Given the description of an element on the screen output the (x, y) to click on. 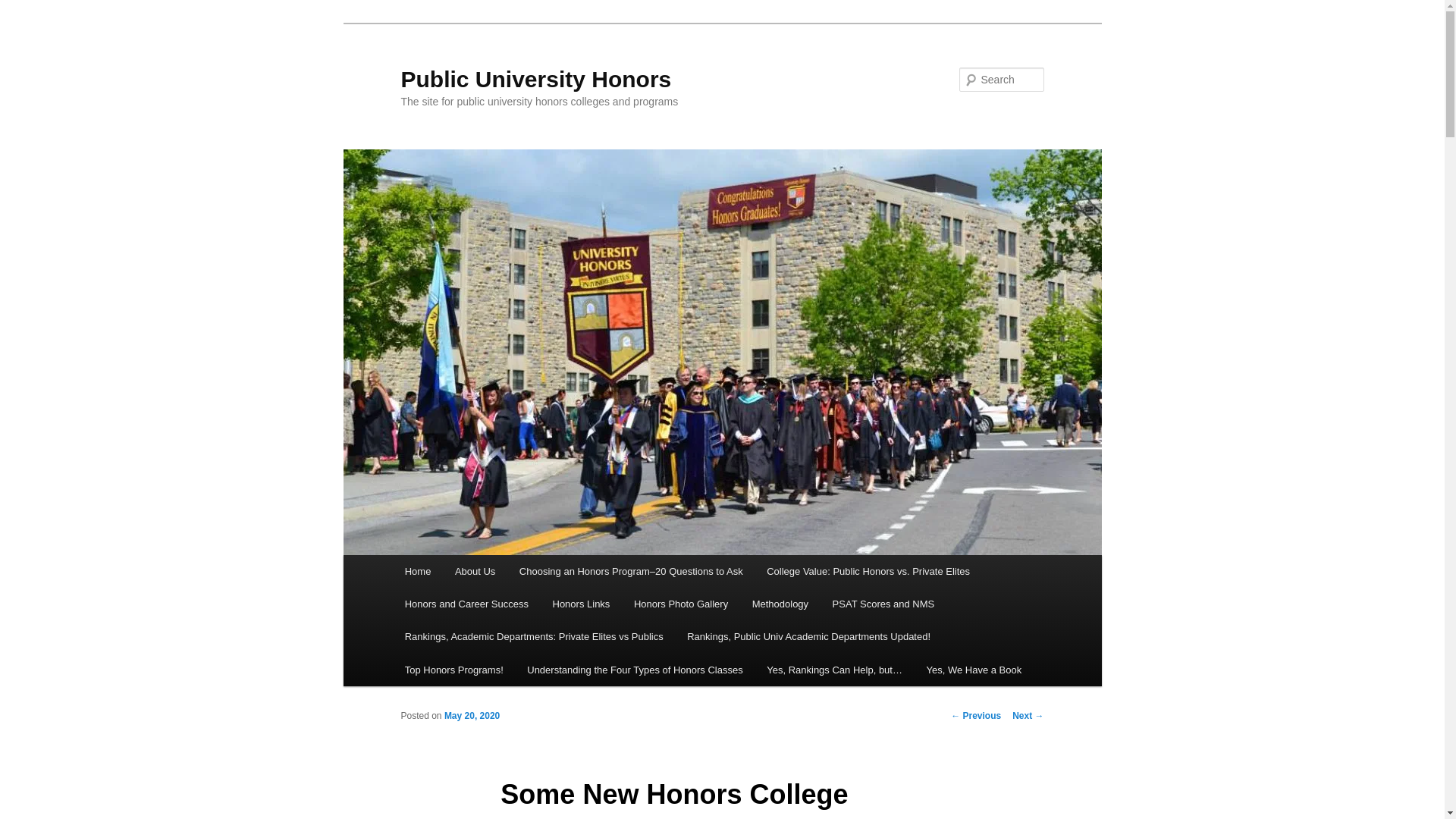
Rankings, Academic Departments: Private Elites vs Publics (534, 635)
Rankings, Public Univ Academic Departments Updated! (808, 635)
Methodology (780, 603)
Top Honors Programs! (454, 669)
Honors Photo Gallery (680, 603)
College Value: Public Honors vs. Private Elites (867, 571)
2:11 pm (471, 715)
Public University Honors (535, 78)
About Us (474, 571)
Home (417, 571)
PSAT Scores and NMS (883, 603)
Honors Links (580, 603)
Honors and Career Success (466, 603)
May 20, 2020 (471, 715)
